Given the description of an element on the screen output the (x, y) to click on. 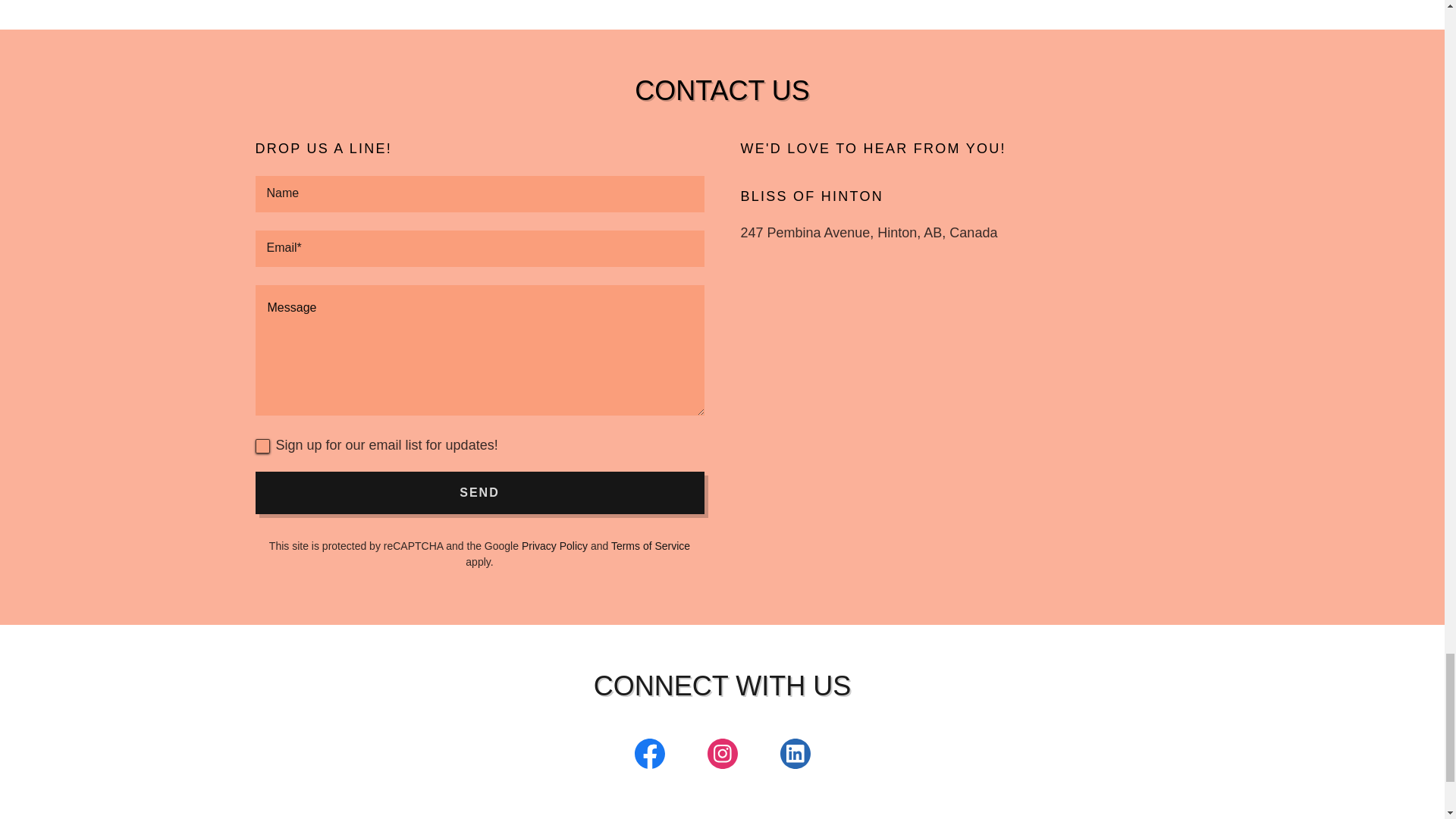
Privacy Policy (554, 545)
SEND (478, 492)
Terms of Service (650, 545)
